Given the description of an element on the screen output the (x, y) to click on. 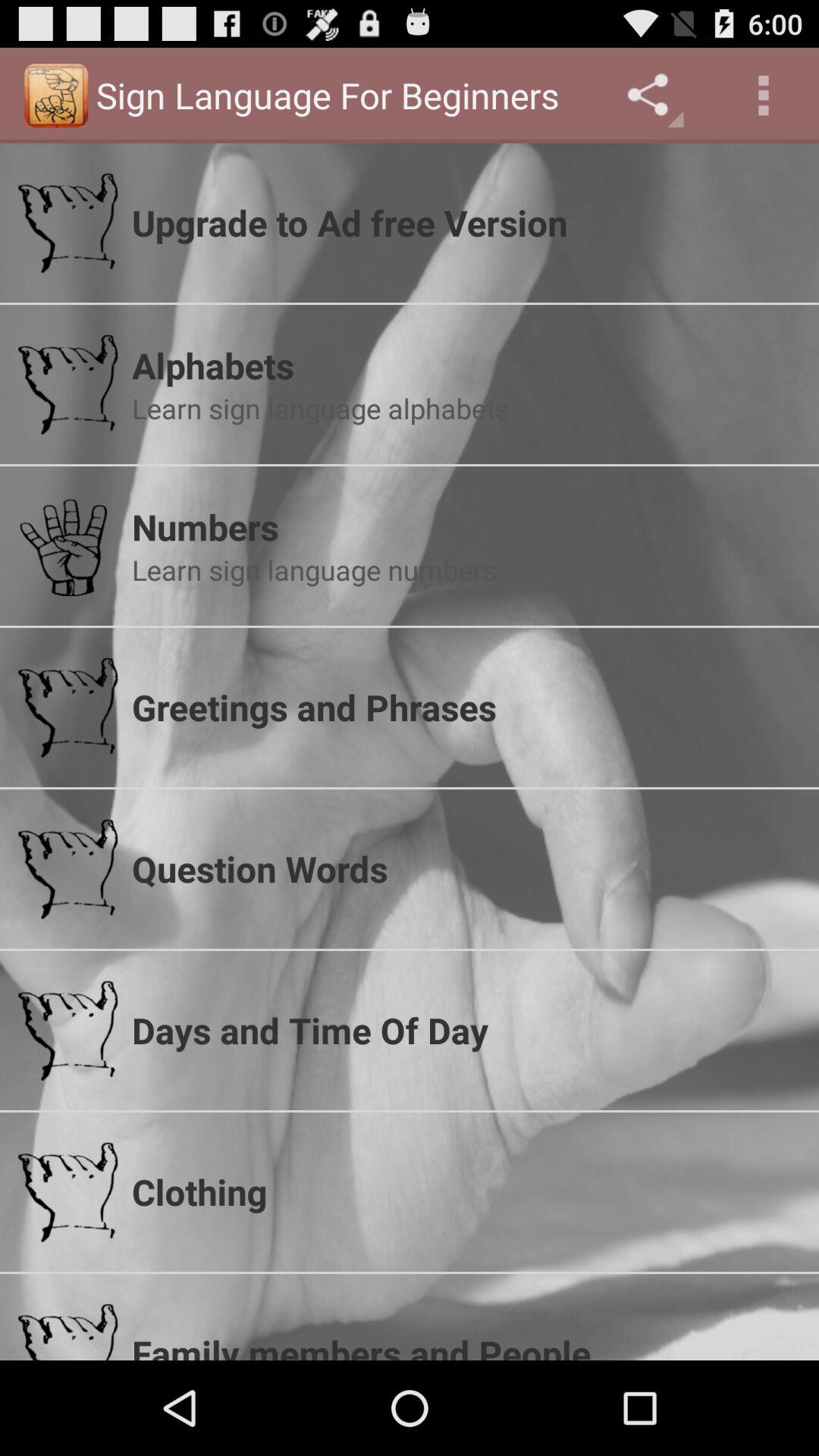
tap the icon above family members and app (465, 1191)
